Given the description of an element on the screen output the (x, y) to click on. 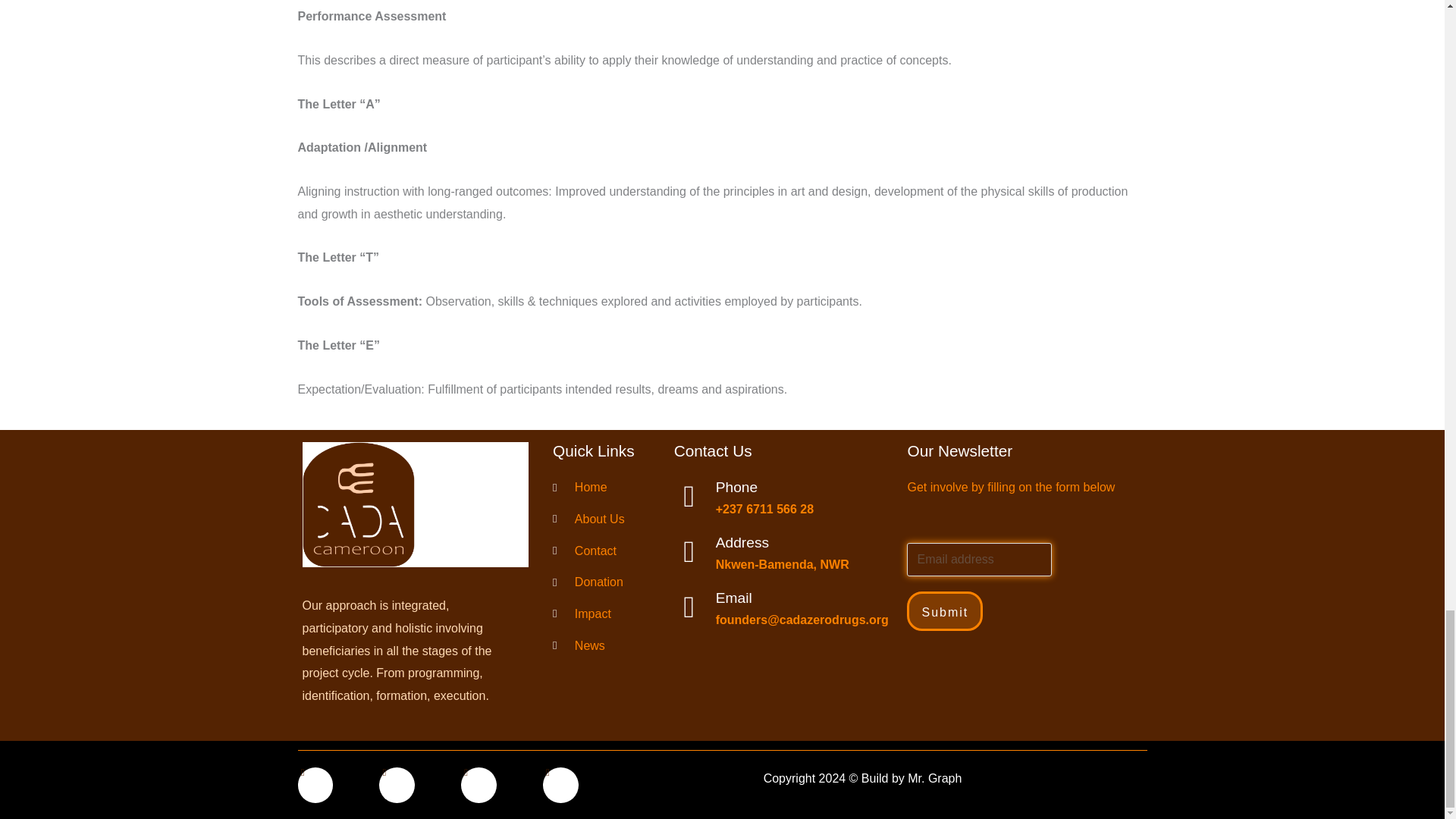
Impact (601, 613)
Twitter (396, 785)
Submit (944, 610)
Youtube (560, 785)
About Us (601, 518)
News (601, 645)
Facebook (315, 785)
Contact (601, 550)
Instagram (478, 785)
Home (601, 486)
Donation (601, 581)
